Given the description of an element on the screen output the (x, y) to click on. 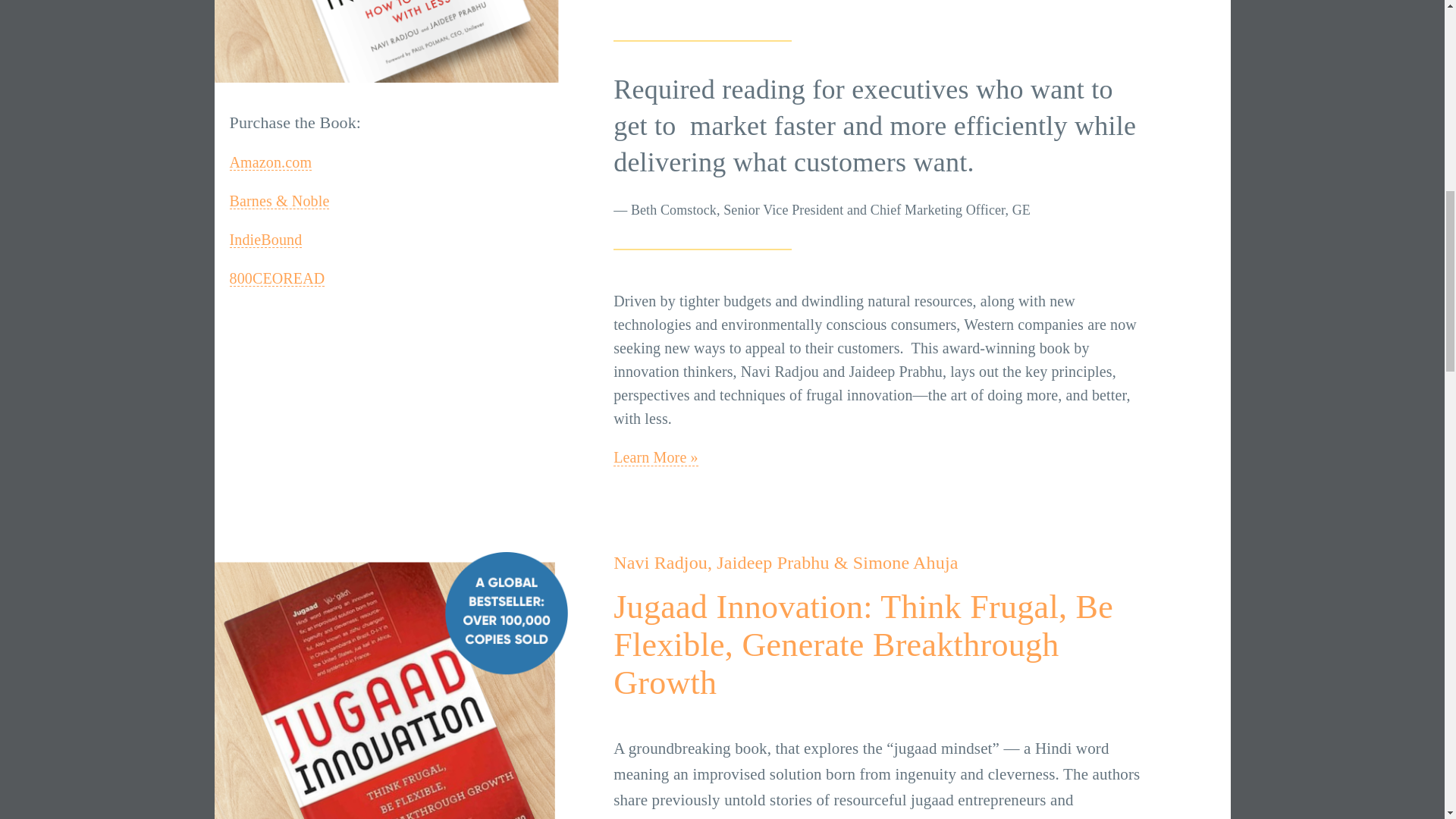
Amazon.com (269, 162)
IndieBound (264, 239)
800CEOREAD (276, 278)
